Given the description of an element on the screen output the (x, y) to click on. 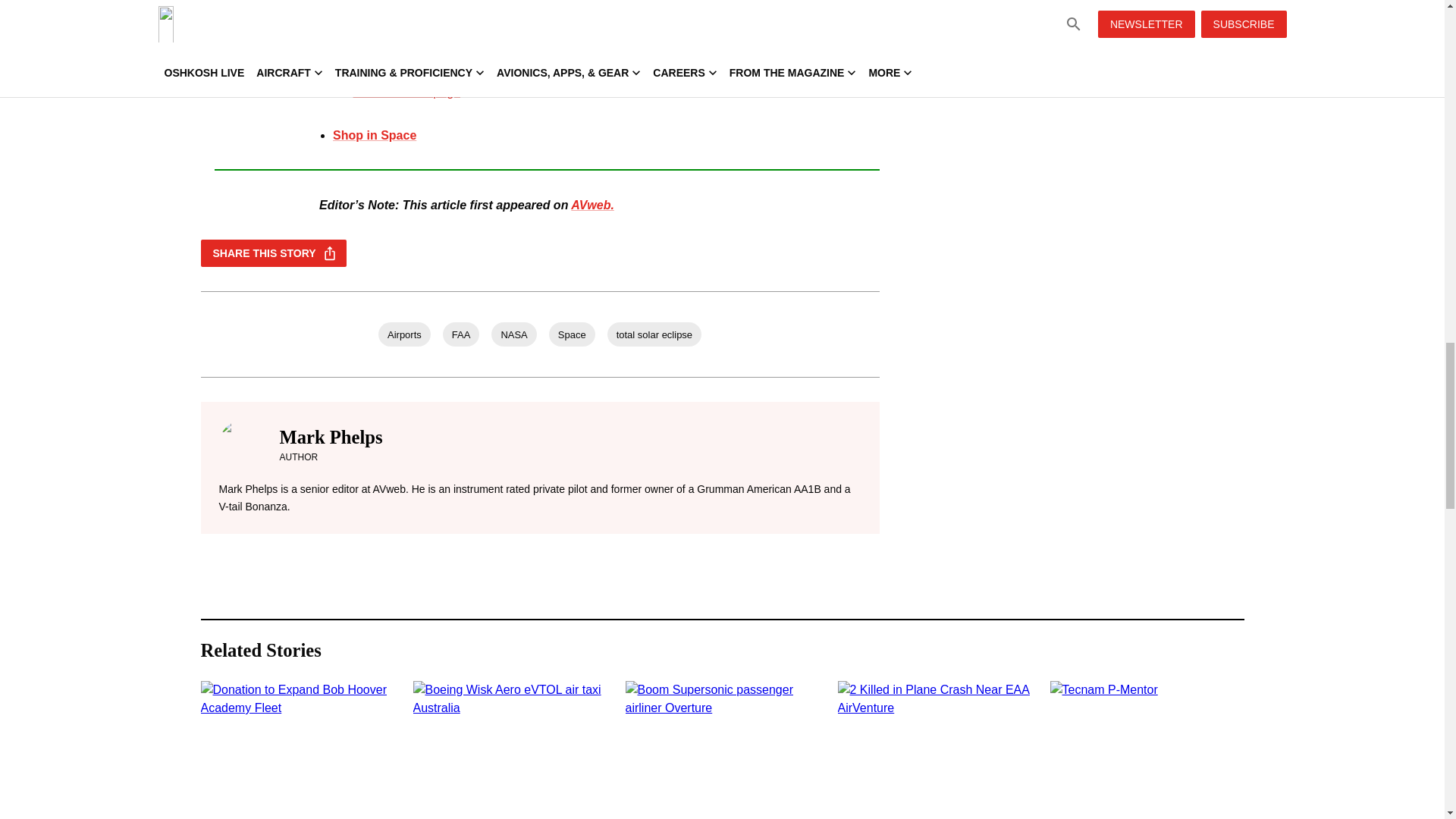
NASA website page (406, 91)
Shop in Space (374, 134)
Donation to Expand Bob Hoover Academy Fleet (297, 749)
SHARE THIS STORY (273, 253)
FAA (461, 334)
AVweb. (592, 205)
total solar eclipse (654, 334)
Boeing Air Taxi Arm Wisk Aero Sets 2032 Olympic Games Target (509, 749)
458 airports in the pathway (540, 19)
Airports (404, 334)
Boom Unveils Supersonic Overture Flight Deck (721, 749)
2 Killed in Plane Crash Near EAA AirVenture (933, 749)
NASA (513, 334)
Mark Phelps (330, 437)
Space (571, 334)
